Given the description of an element on the screen output the (x, y) to click on. 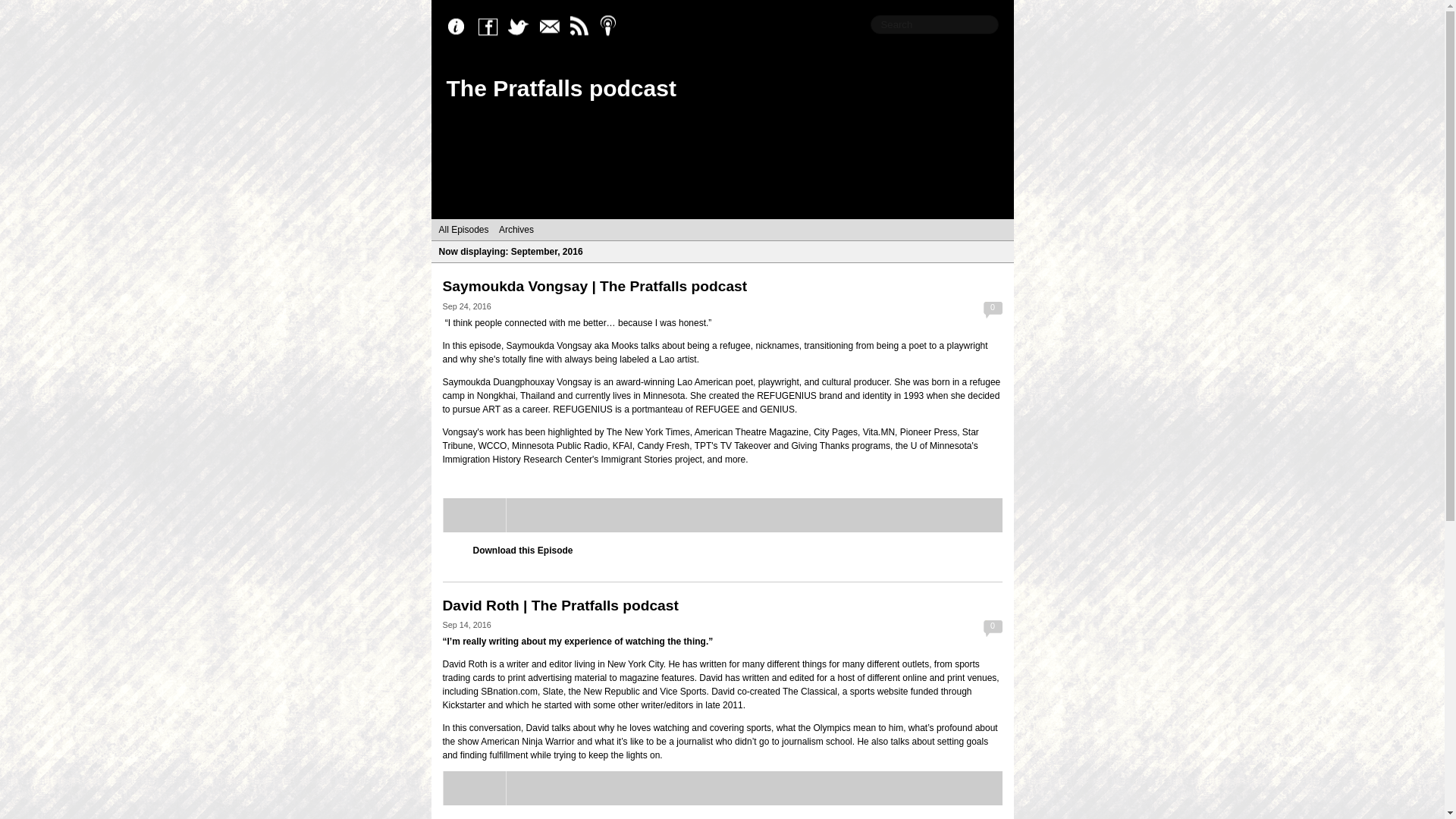
Libsyn Player (722, 514)
Twitter (521, 26)
The Classical (810, 691)
Saymoukda Duangphouxay Vongsay (517, 381)
Download this Episode (523, 550)
Libsyn Player (722, 788)
Vice Sports (682, 691)
RSS Feed (581, 26)
David Roth (464, 664)
All Episodes (462, 229)
Subscribe in Apple Podcasts (611, 26)
Facebook (491, 26)
Email (552, 26)
0 (991, 310)
0 (991, 628)
